Given the description of an element on the screen output the (x, y) to click on. 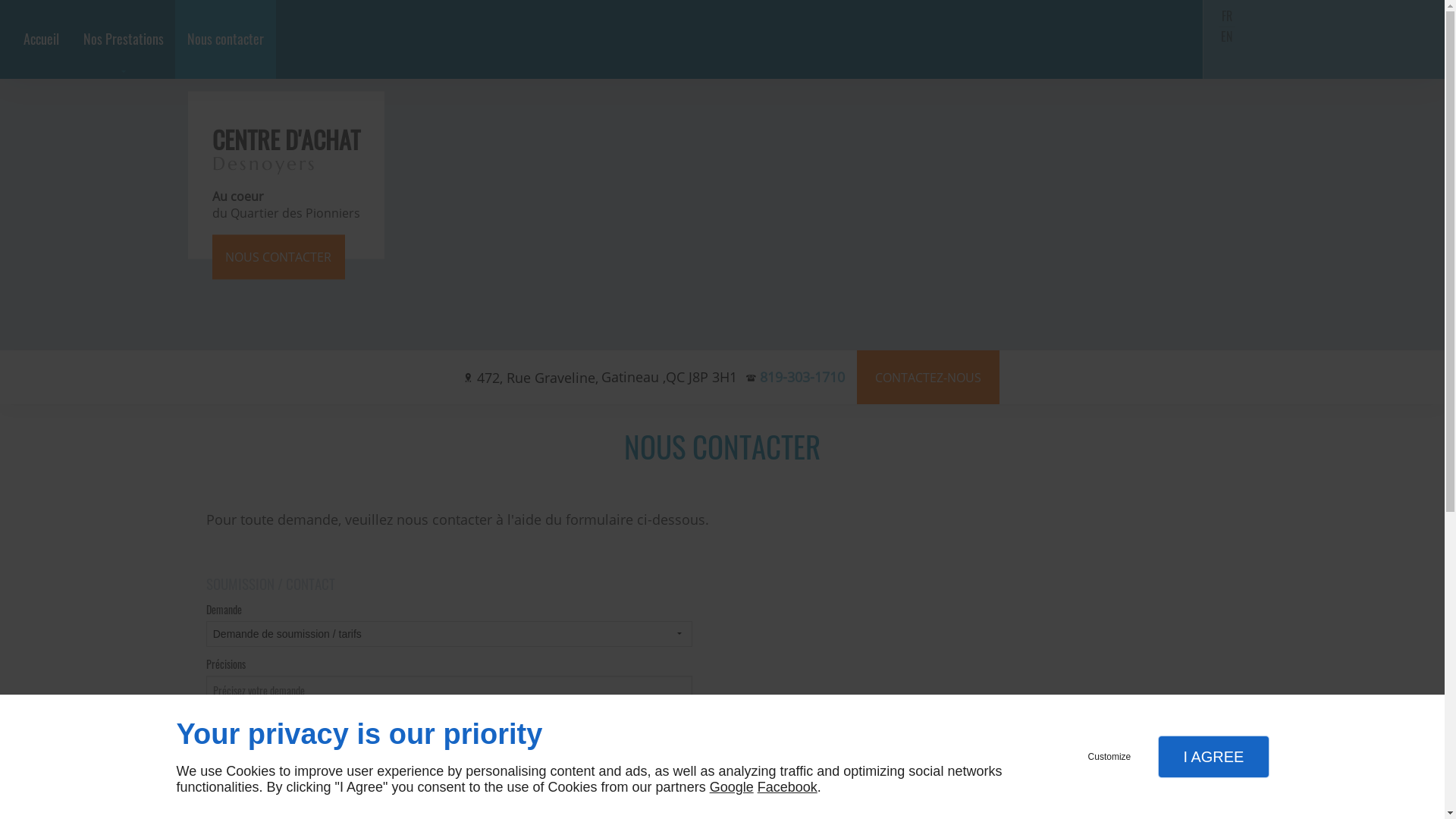
819-303-1710 Element type: text (801, 376)
EN Element type: text (1226, 36)
Google Element type: text (731, 786)
Facebook Element type: text (787, 786)
CONTACTEZ-NOUS Element type: text (927, 377)
FR Element type: text (1226, 15)
NOUS CONTACTER Element type: text (278, 256)
CENTRE D'ACHAT
Desnoyers Element type: text (286, 150)
Nos Prestations Element type: text (123, 39)
Accueil Element type: text (41, 39)
Nous contacter Element type: text (225, 39)
